Given the description of an element on the screen output the (x, y) to click on. 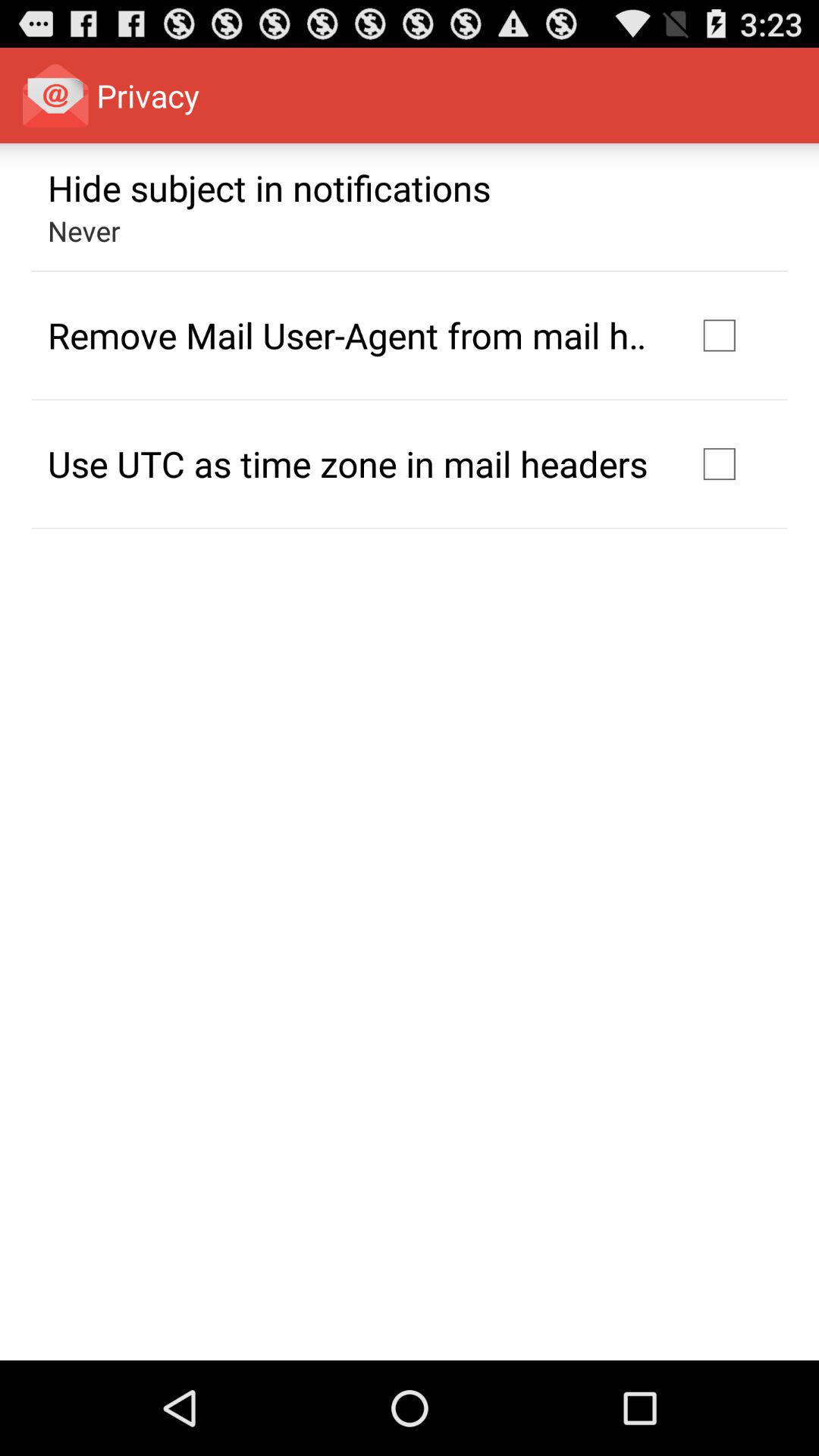
open the icon above never app (268, 187)
